Given the description of an element on the screen output the (x, y) to click on. 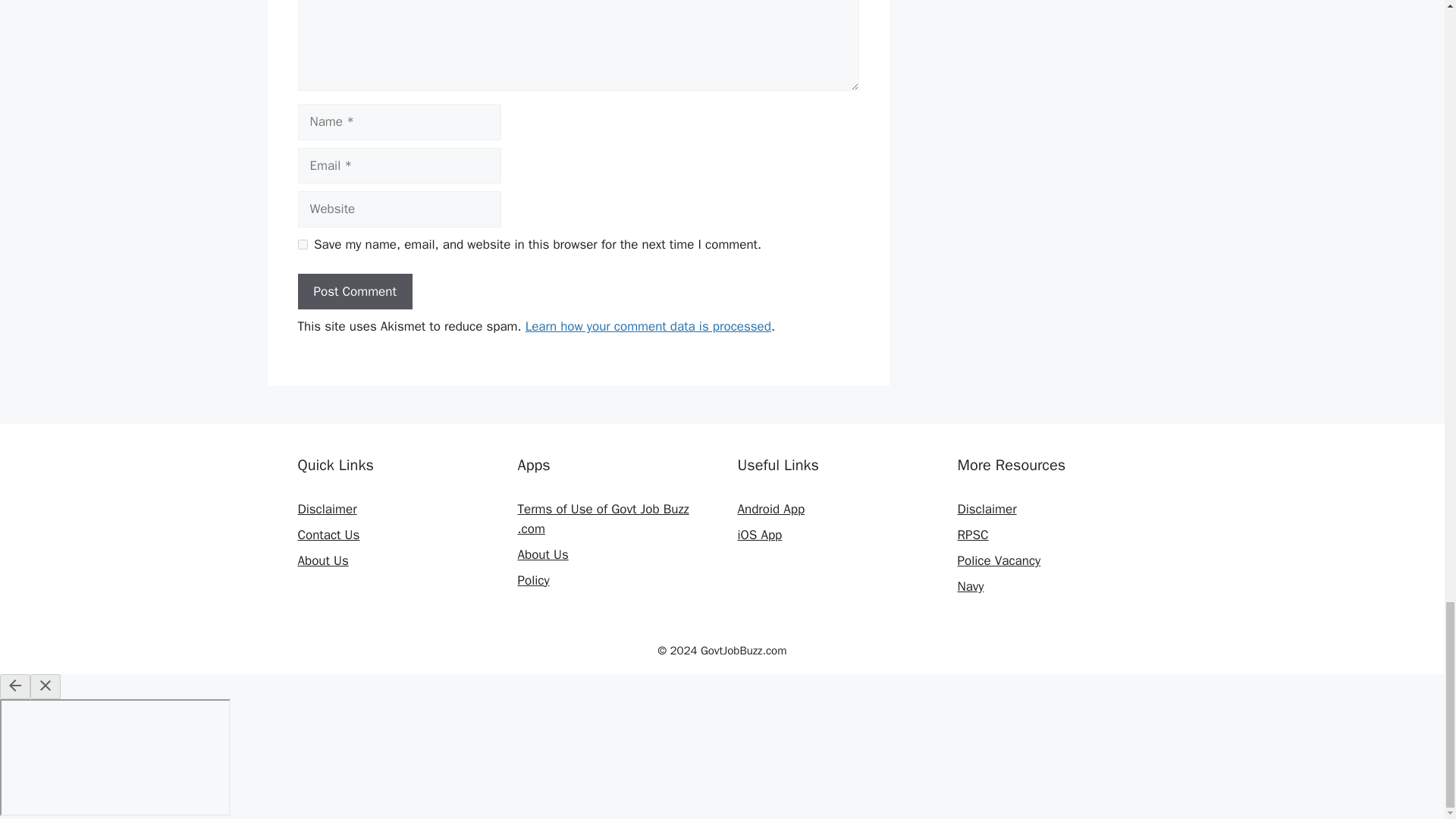
Learn how your comment data is processed (648, 326)
yes (302, 244)
Post Comment (354, 291)
Post Comment (354, 291)
